Given the description of an element on the screen output the (x, y) to click on. 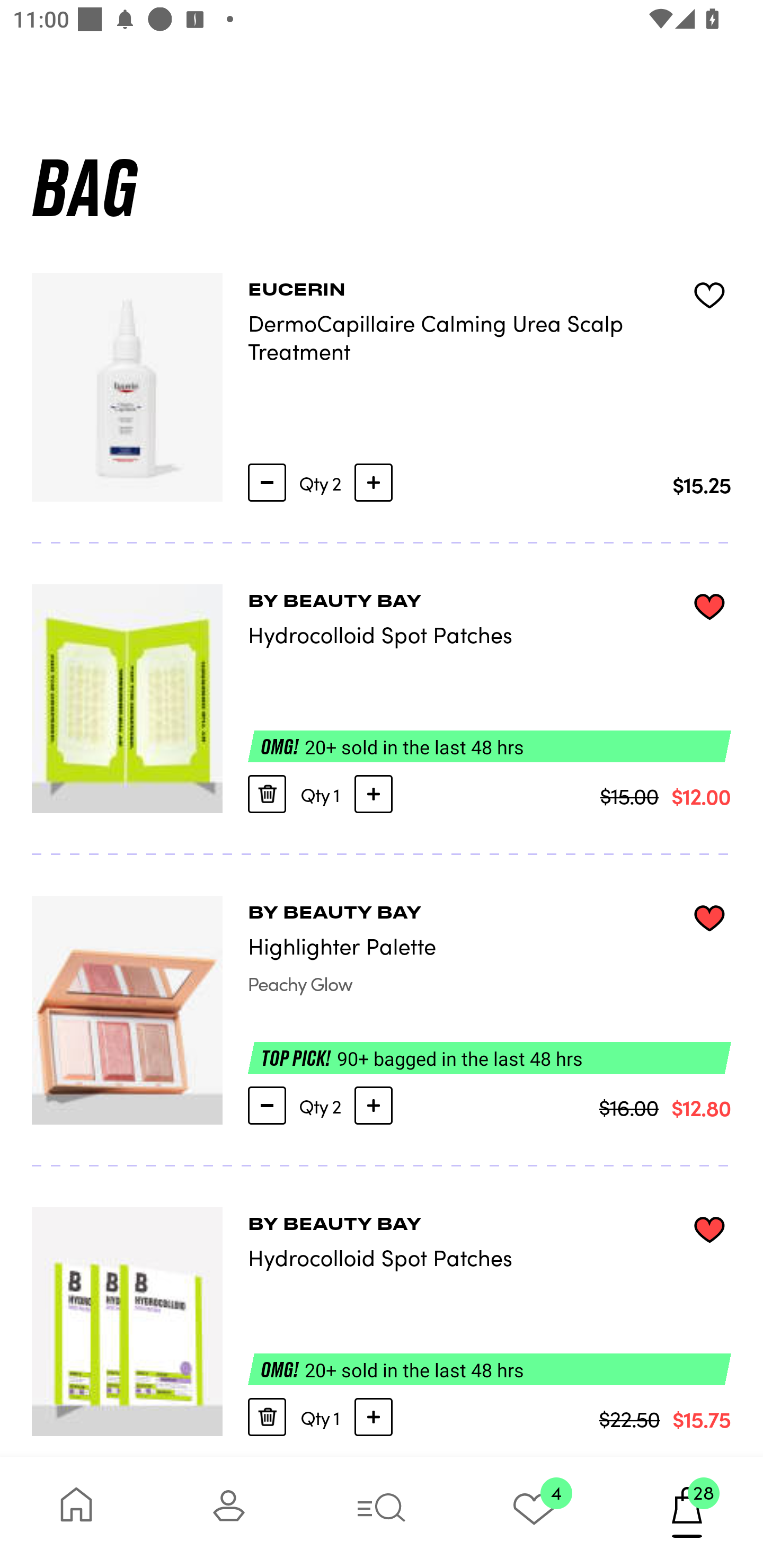
4 (533, 1512)
28 (686, 1512)
